Given the description of an element on the screen output the (x, y) to click on. 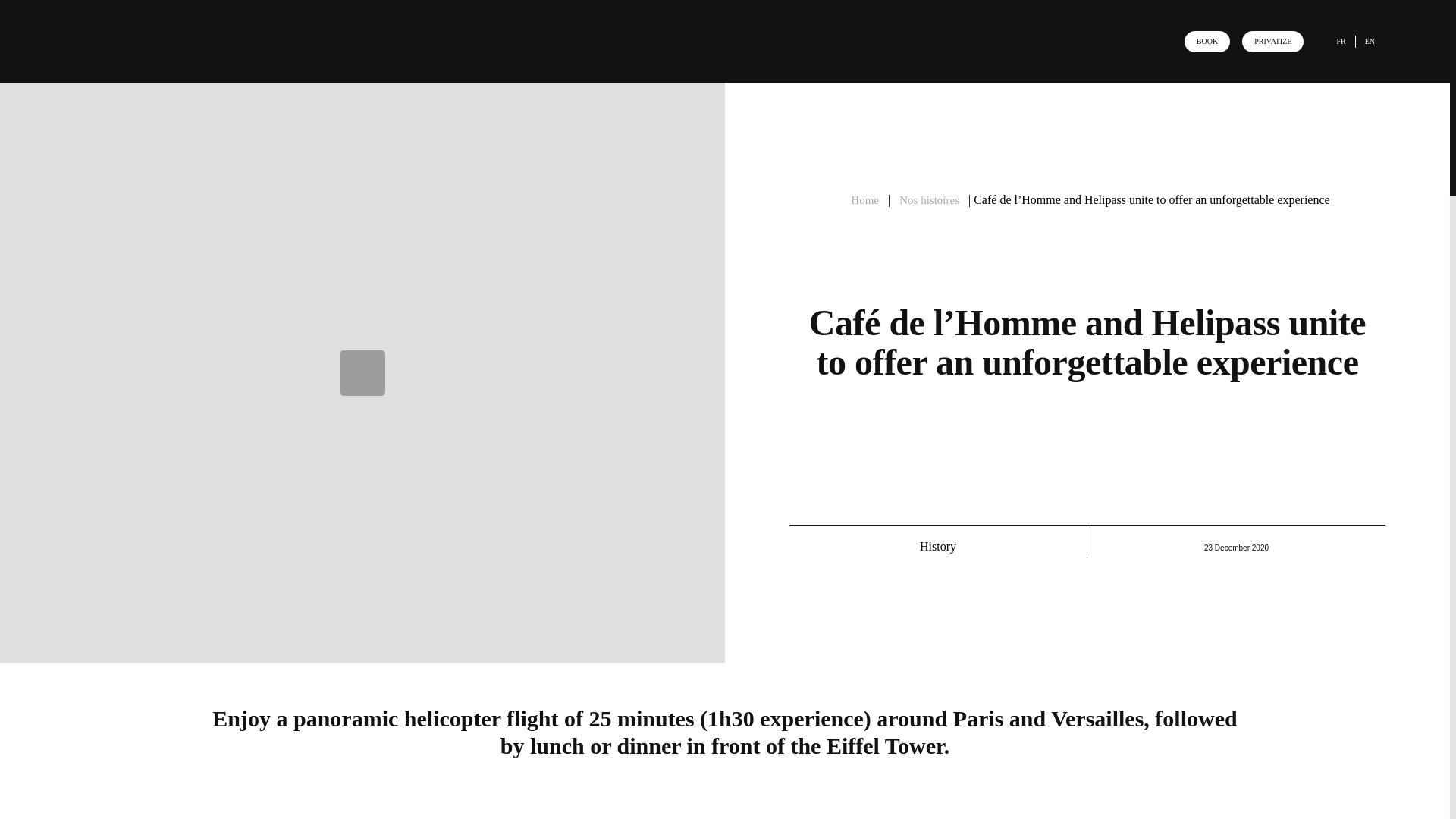
FR (1340, 40)
BOOK (1207, 40)
PRIVATIZE (1272, 40)
EN (1369, 40)
EN (1369, 40)
Home (864, 200)
Helipass (317, 816)
23 December 2020 (1236, 547)
Nos histoires (929, 200)
Close (1401, 47)
FR (1340, 40)
